Given the description of an element on the screen output the (x, y) to click on. 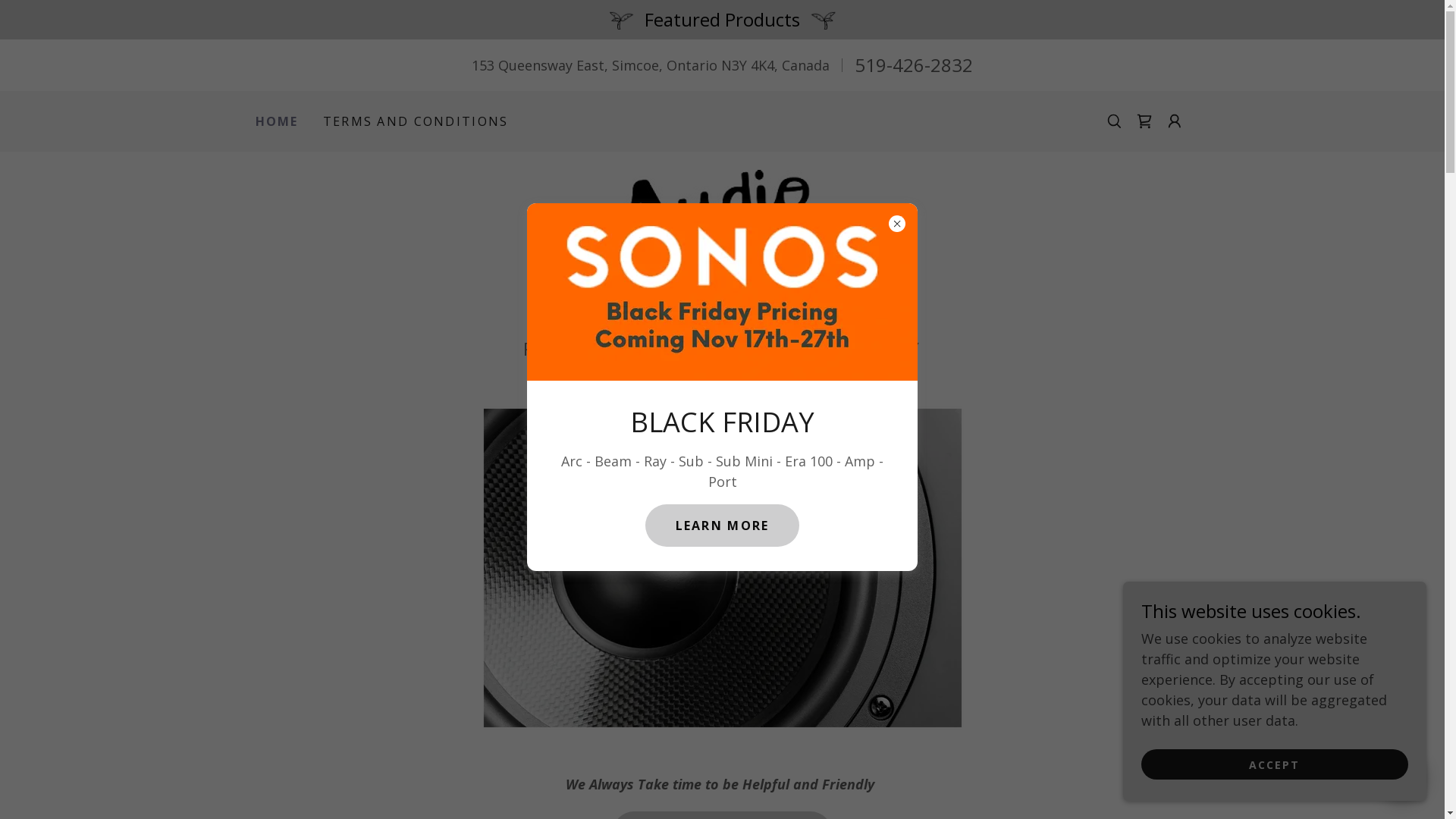
HOME Element type: text (276, 121)
Audio Avenue Element type: hover (722, 248)
519-426-2832 Element type: text (913, 64)
ACCEPT Element type: text (1274, 764)
Featured Products Element type: text (722, 19)
LEARN MORE Element type: text (722, 524)
TERMS AND CONDITIONS Element type: text (415, 120)
